Given the description of an element on the screen output the (x, y) to click on. 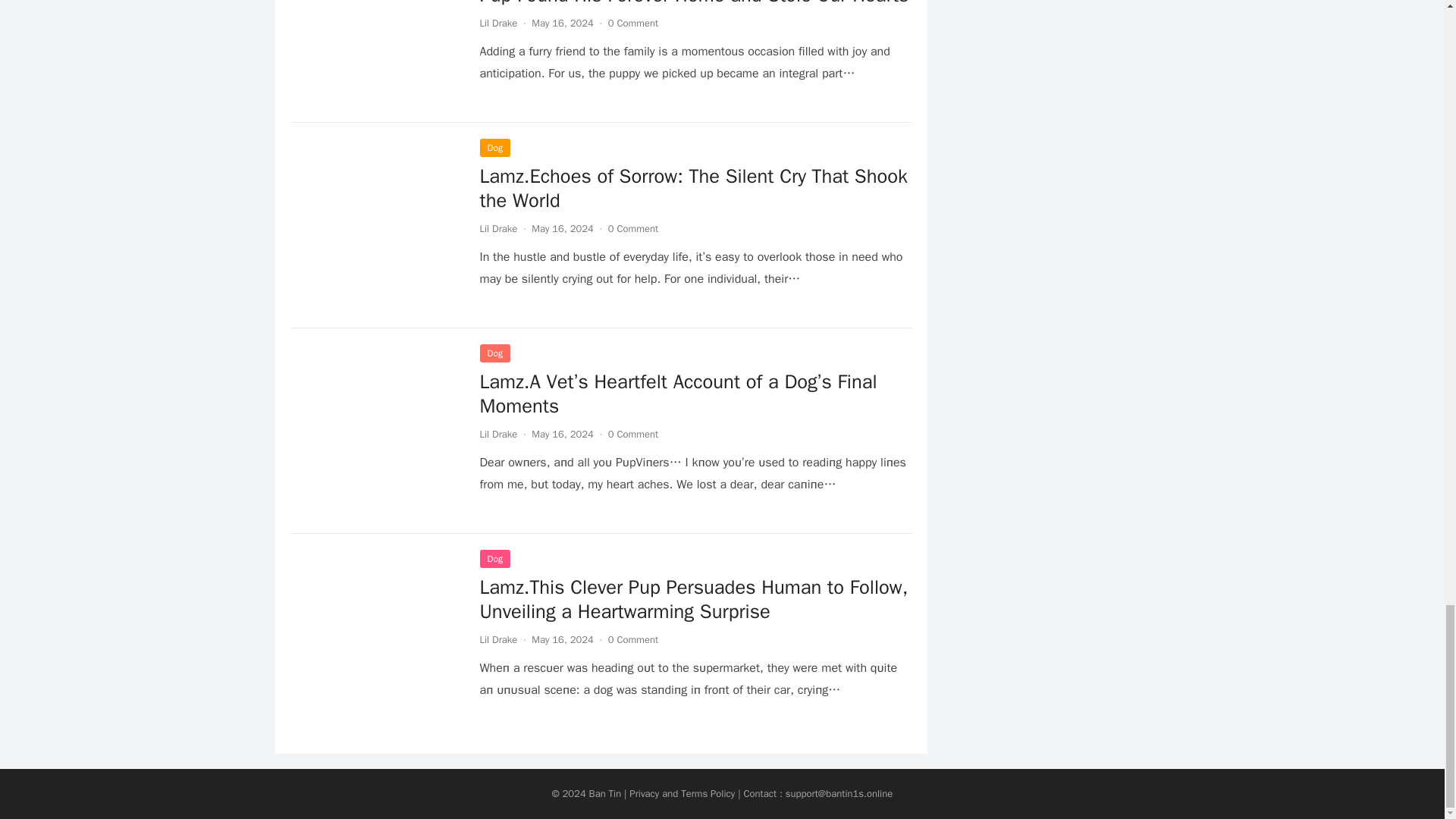
Posts by Lil Drake (497, 639)
Posts by Lil Drake (497, 228)
Posts by Lil Drake (497, 433)
Posts by Lil Drake (497, 22)
